Given the description of an element on the screen output the (x, y) to click on. 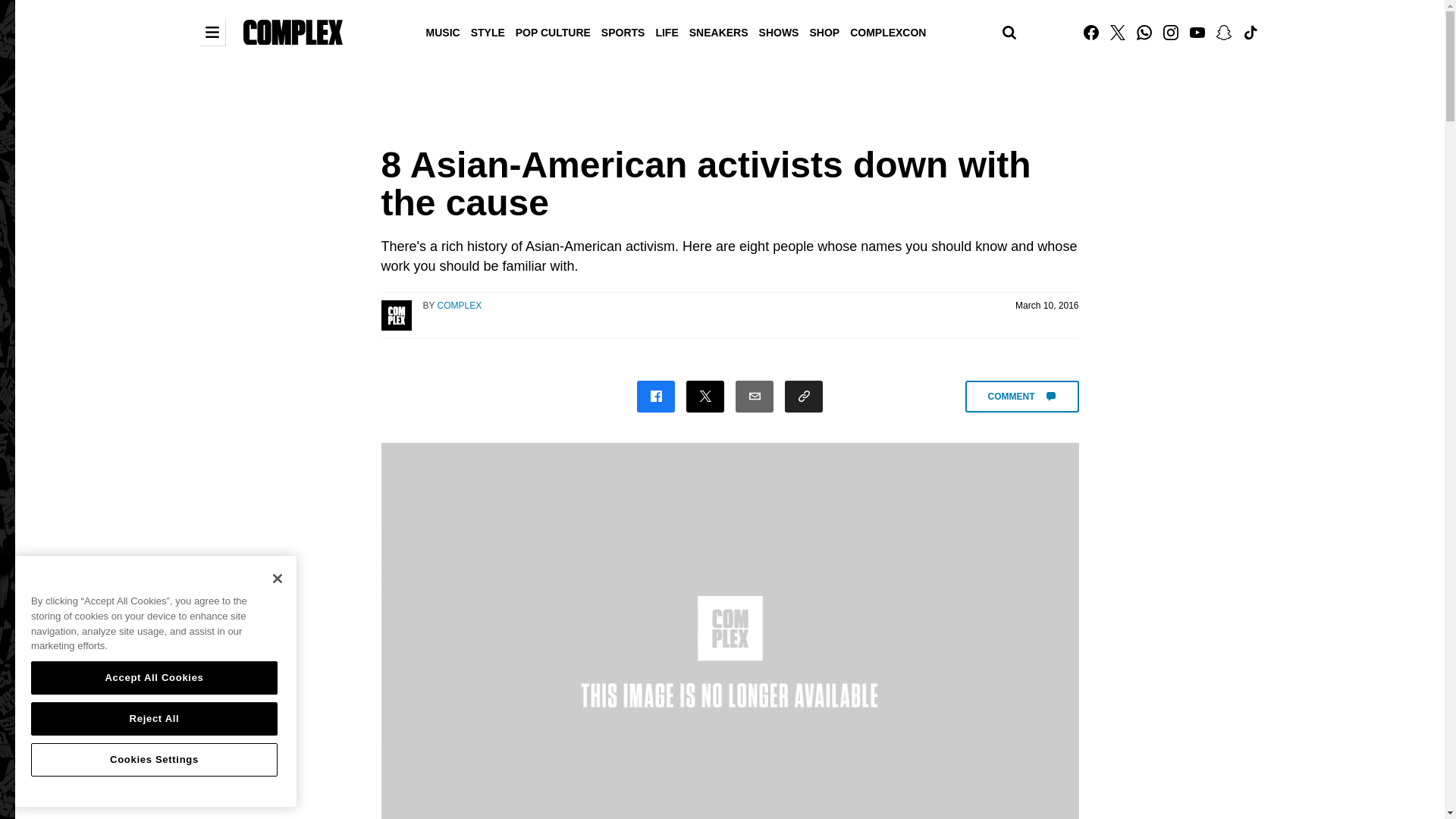
MUSIC (442, 30)
SHOP (823, 30)
POP CULTURE (553, 30)
LIFE (665, 30)
SNEAKERS (719, 30)
SHOWS (779, 30)
STYLE (488, 30)
SPORTS (622, 30)
COMPLEXCON (887, 30)
